Given the description of an element on the screen output the (x, y) to click on. 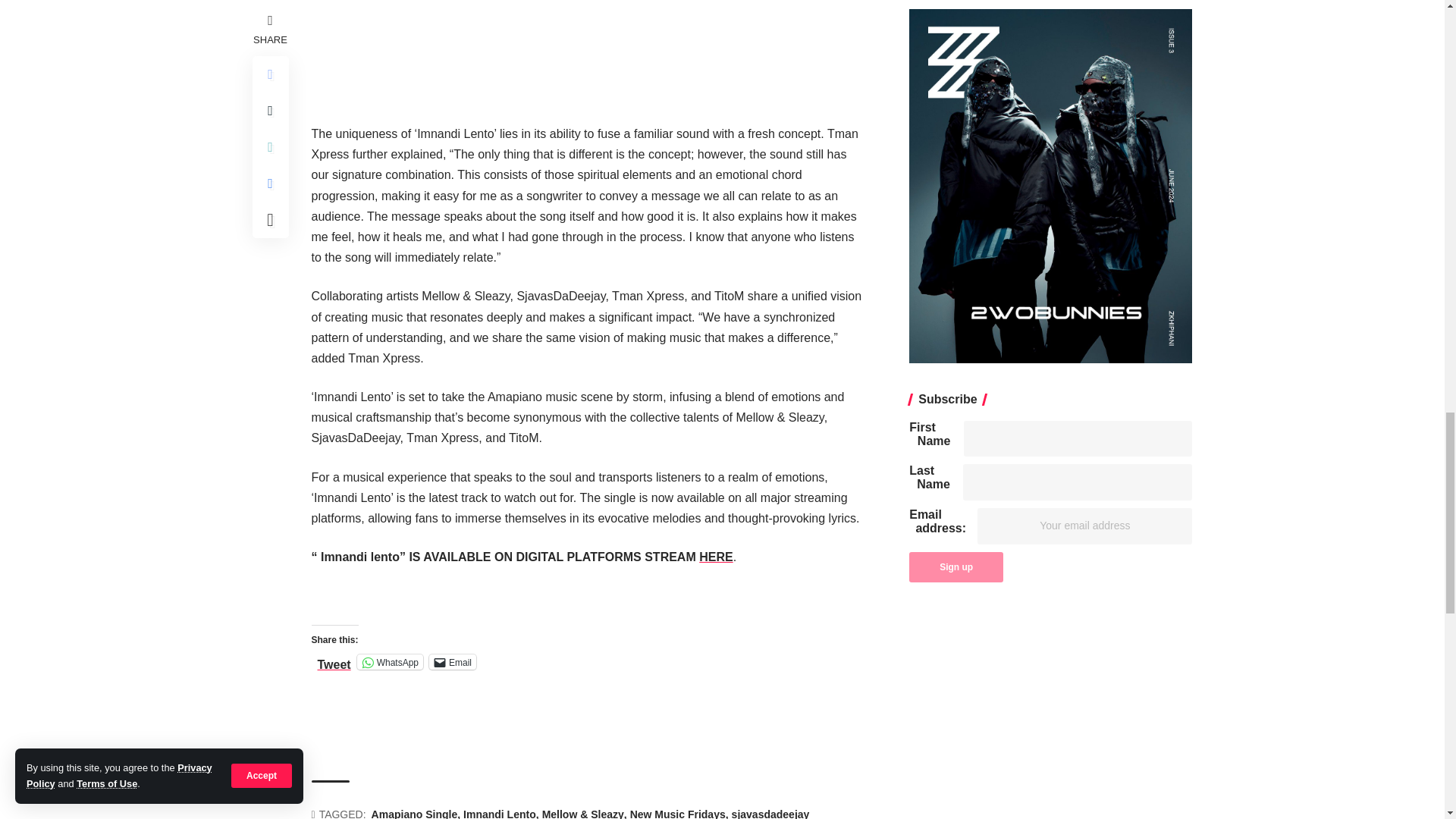
Click to email a link to a friend (452, 661)
Click to share on WhatsApp (389, 661)
